Given the description of an element on the screen output the (x, y) to click on. 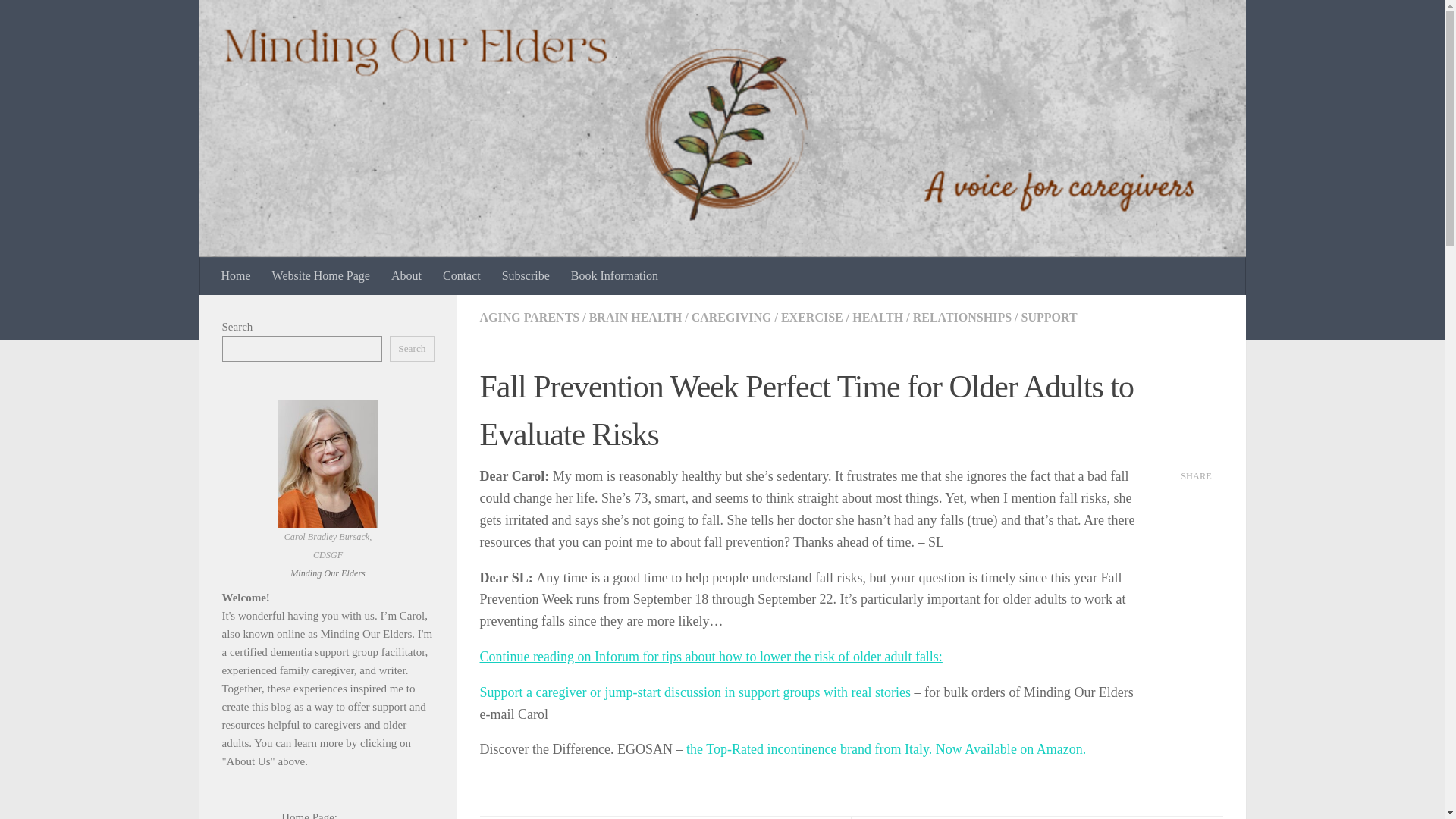
Contact (462, 275)
Website Home Page (321, 275)
Skip to content (59, 20)
Book Information (614, 275)
RELATIONSHIPS (961, 317)
Home (236, 275)
Subscribe (526, 275)
CAREGIVING (731, 317)
Search (411, 348)
EXERCISE (811, 317)
AGING PARENTS (529, 317)
SUPPORT (1049, 317)
About (406, 275)
